Given the description of an element on the screen output the (x, y) to click on. 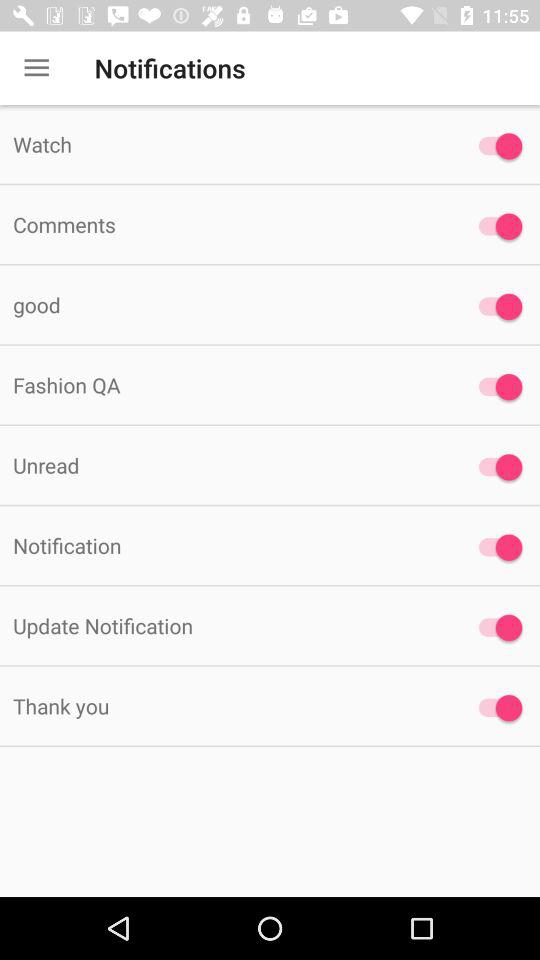
toggle update notifications (495, 627)
